Given the description of an element on the screen output the (x, y) to click on. 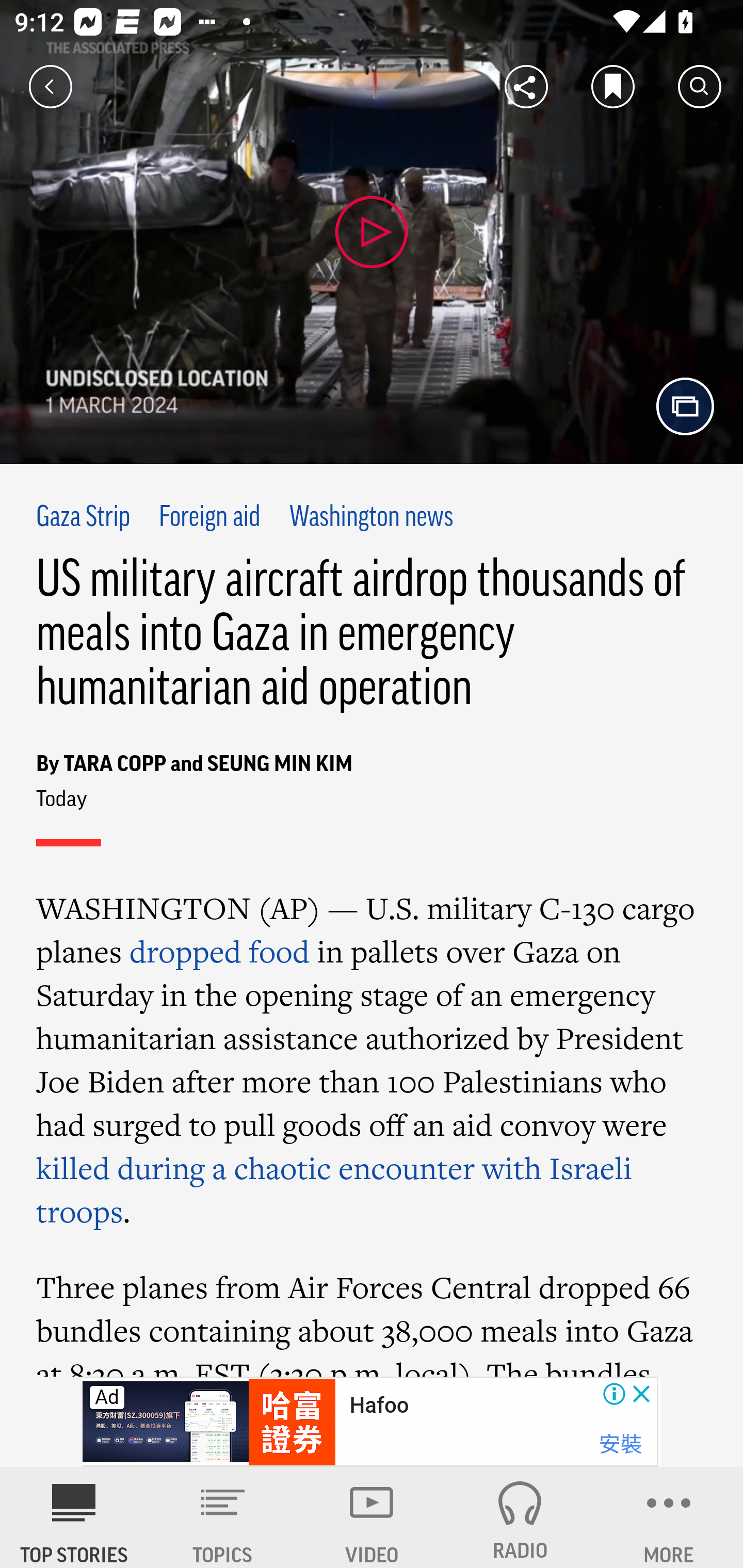
Gaza Strip (83, 518)
Foreign aid (208, 518)
Washington news (371, 518)
dropped food (218, 951)
Hafoo (378, 1405)
安裝 (620, 1444)
AP News TOP STORIES (74, 1517)
TOPICS (222, 1517)
VIDEO (371, 1517)
RADIO (519, 1517)
MORE (668, 1517)
